Given the description of an element on the screen output the (x, y) to click on. 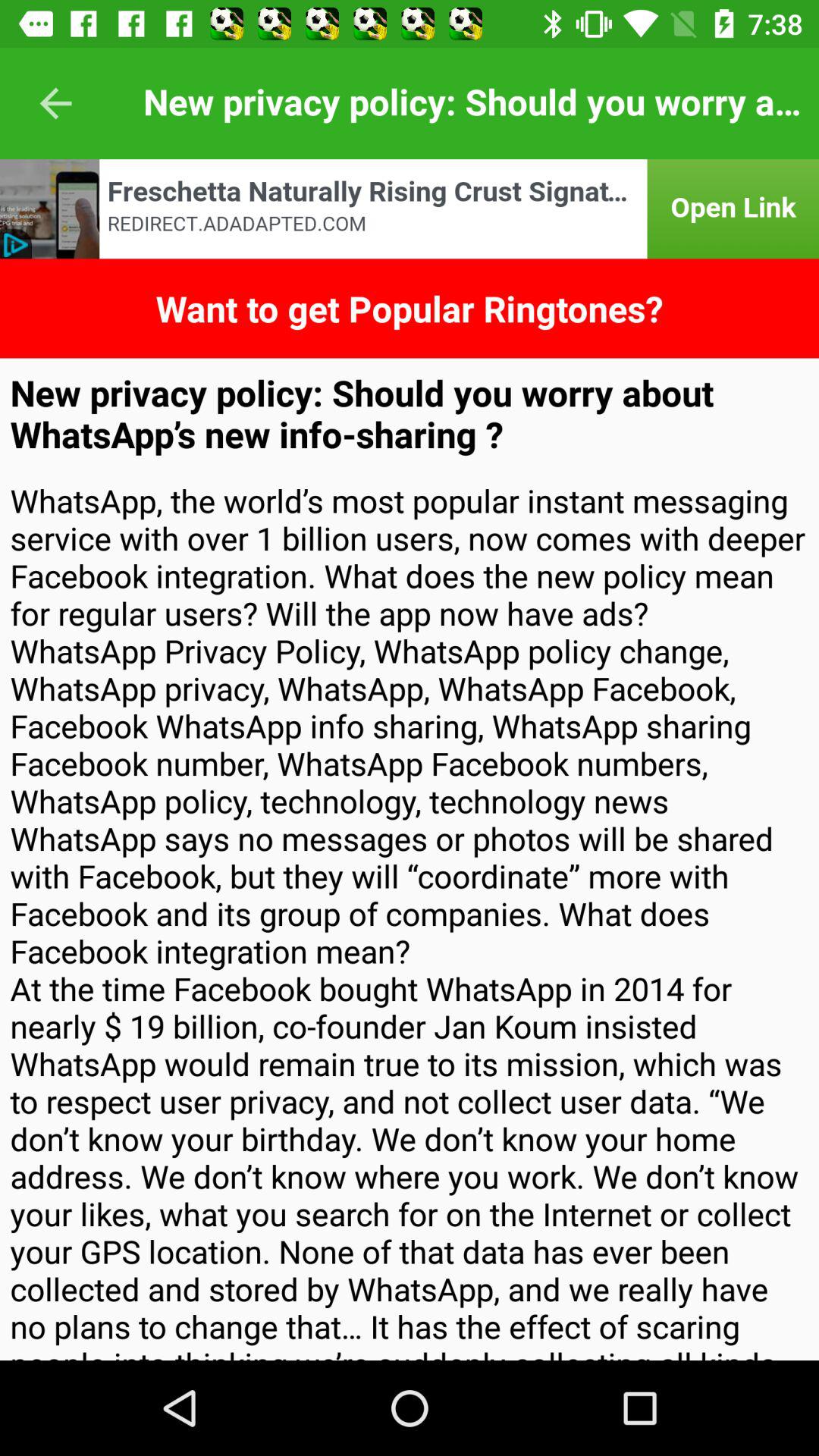
open icon next to the new privacy policy (55, 103)
